Given the description of an element on the screen output the (x, y) to click on. 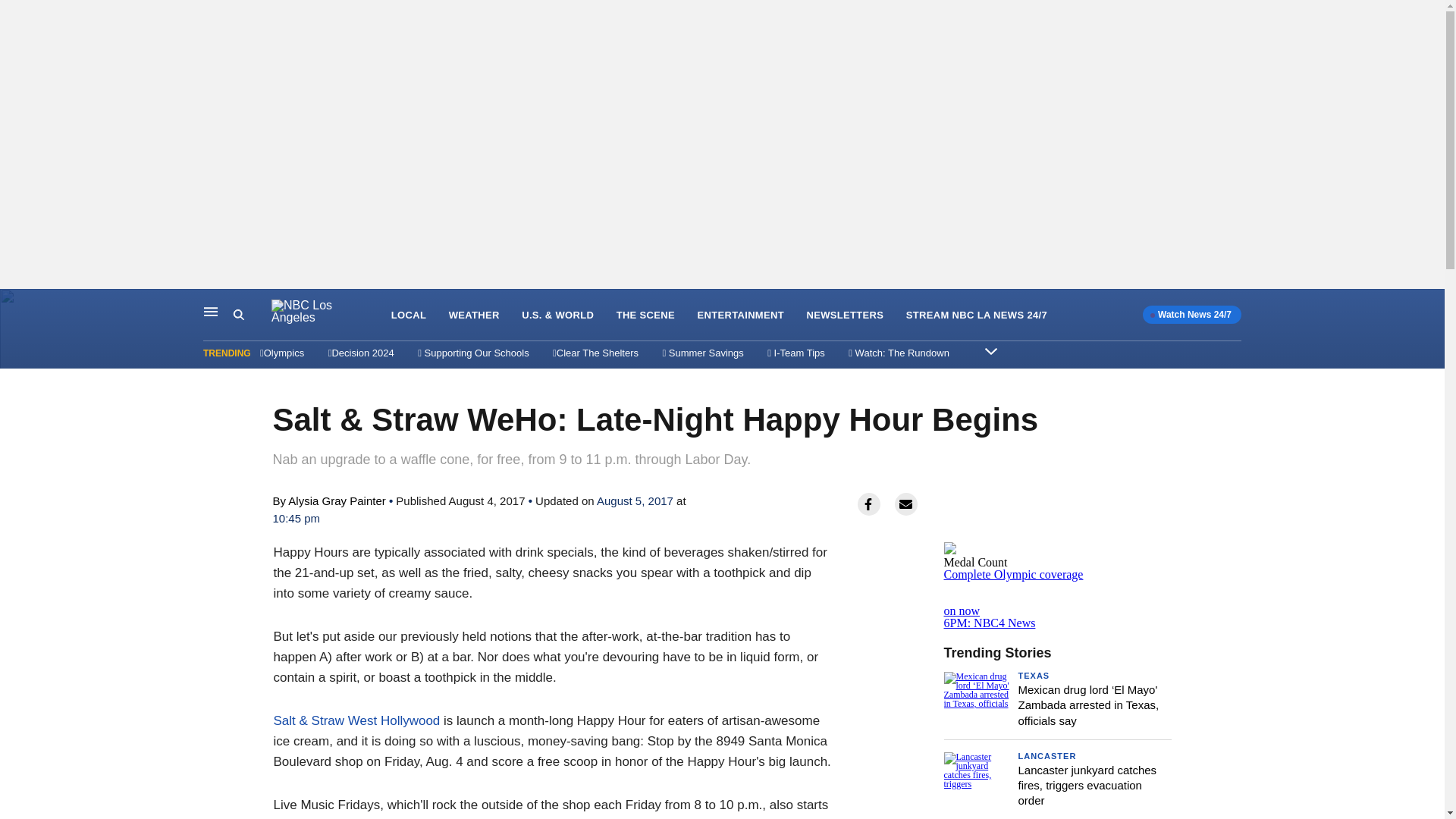
Skip to content (16, 304)
Lancaster junkyard catches fires, triggers evacuation order (1086, 785)
LANCASTER (1046, 755)
LOCAL (408, 315)
THE SCENE (1056, 604)
Complete Olympic coverage (645, 315)
Search (1013, 574)
Search (252, 314)
TEXAS (238, 314)
NEWSLETTERS (1033, 675)
WEATHER (844, 315)
Main Navigation (473, 315)
Expand (210, 311)
ENTERTAINMENT (991, 350)
